Given the description of an element on the screen output the (x, y) to click on. 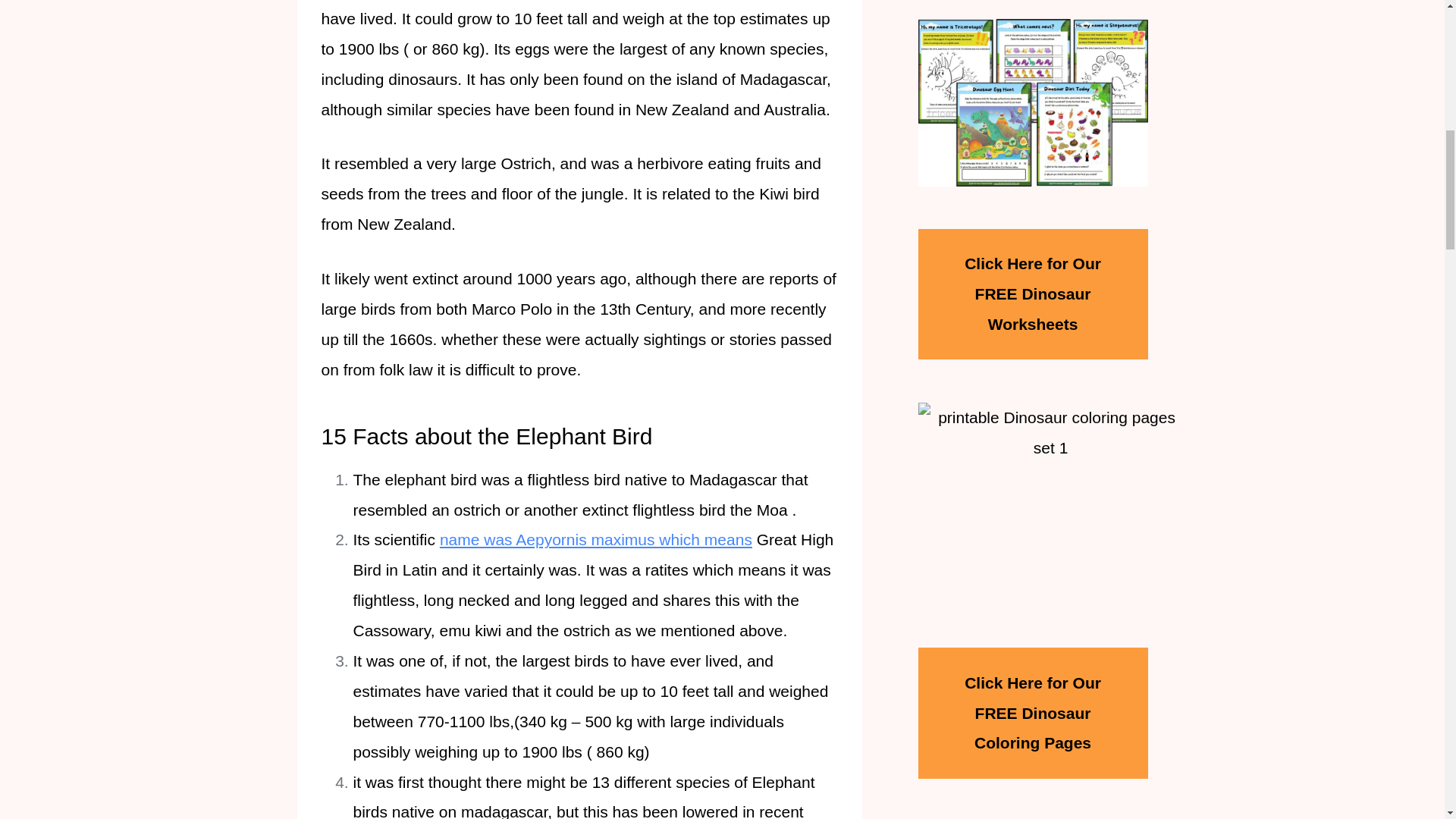
name was Aepyornis maximus which means (595, 538)
